Given the description of an element on the screen output the (x, y) to click on. 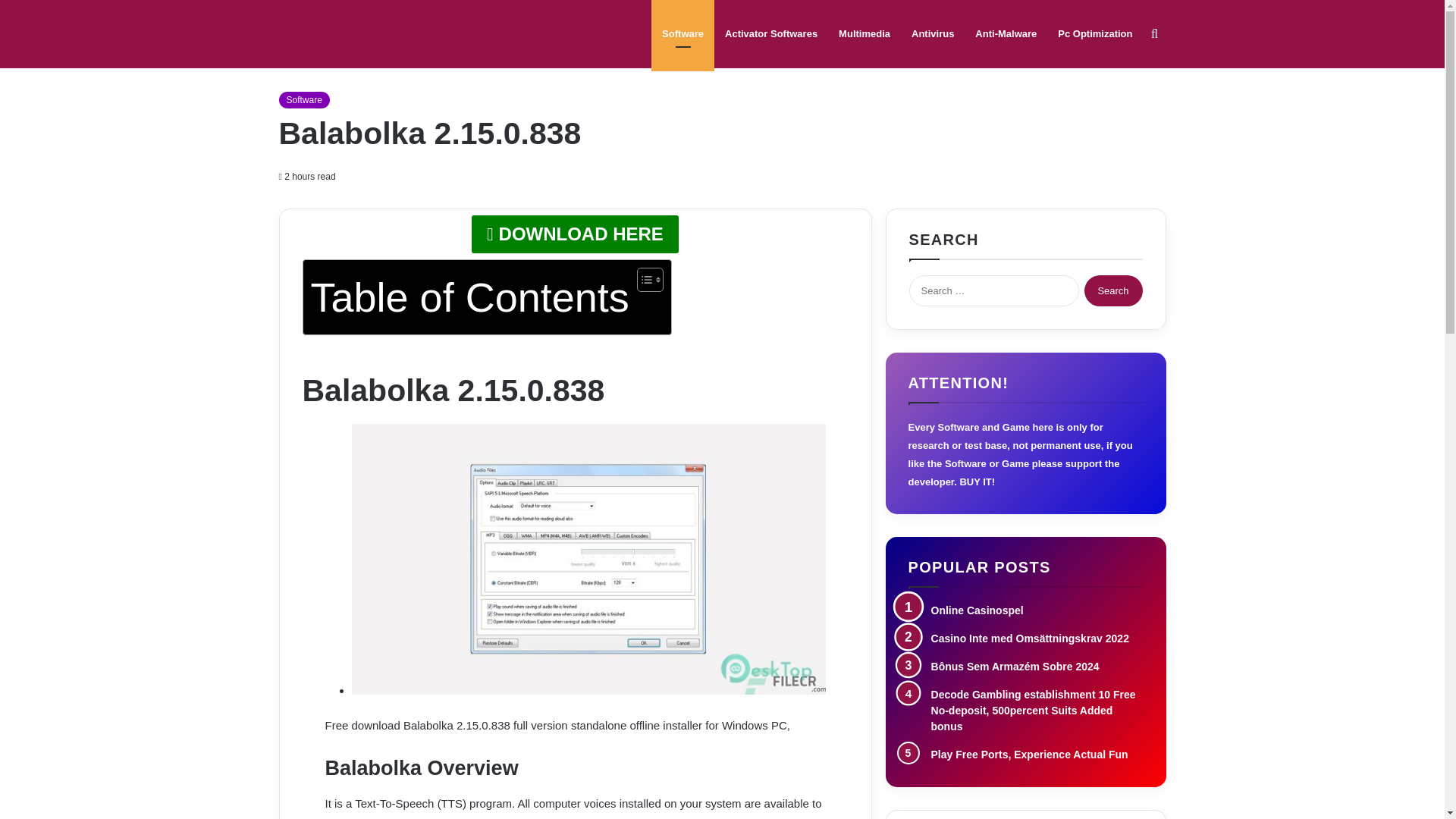
Activator Softwares (771, 33)
Search (1113, 290)
F4File (333, 34)
Anti-Malware (1004, 33)
Pc Optimization (1094, 33)
F4File (333, 34)
Software (682, 33)
Multimedia (864, 33)
Search (1113, 290)
Antivirus (932, 33)
Software (304, 99)
Search (1113, 290)
